Given the description of an element on the screen output the (x, y) to click on. 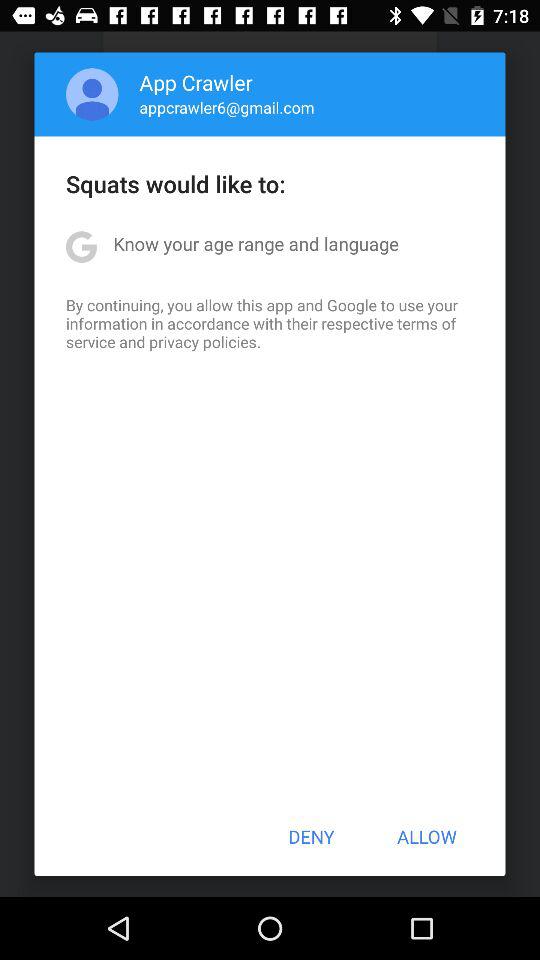
tap the icon above the by continuing you item (255, 243)
